Given the description of an element on the screen output the (x, y) to click on. 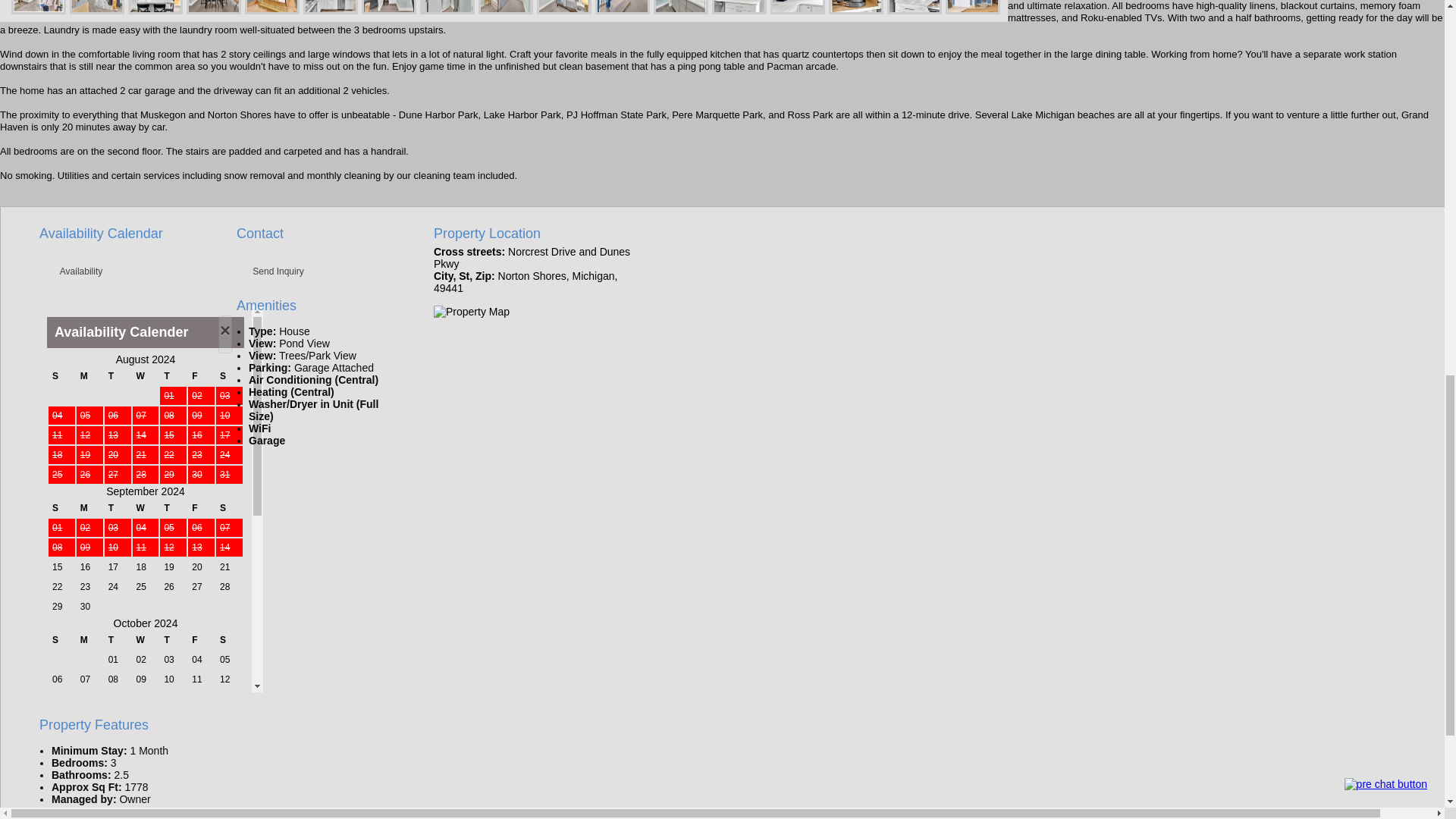
Saturday, August  3, 2024 (229, 395)
Monday, August 12, 2024 (90, 434)
Tuesday, August  6, 2024 (117, 415)
Sunday (61, 375)
Sunday, August 11, 2024 (61, 434)
Friday (200, 375)
Monday, August  5, 2024 (90, 415)
Thursday, August  1, 2024 (173, 395)
Tuesday (117, 375)
Saturday (229, 375)
